Given the description of an element on the screen output the (x, y) to click on. 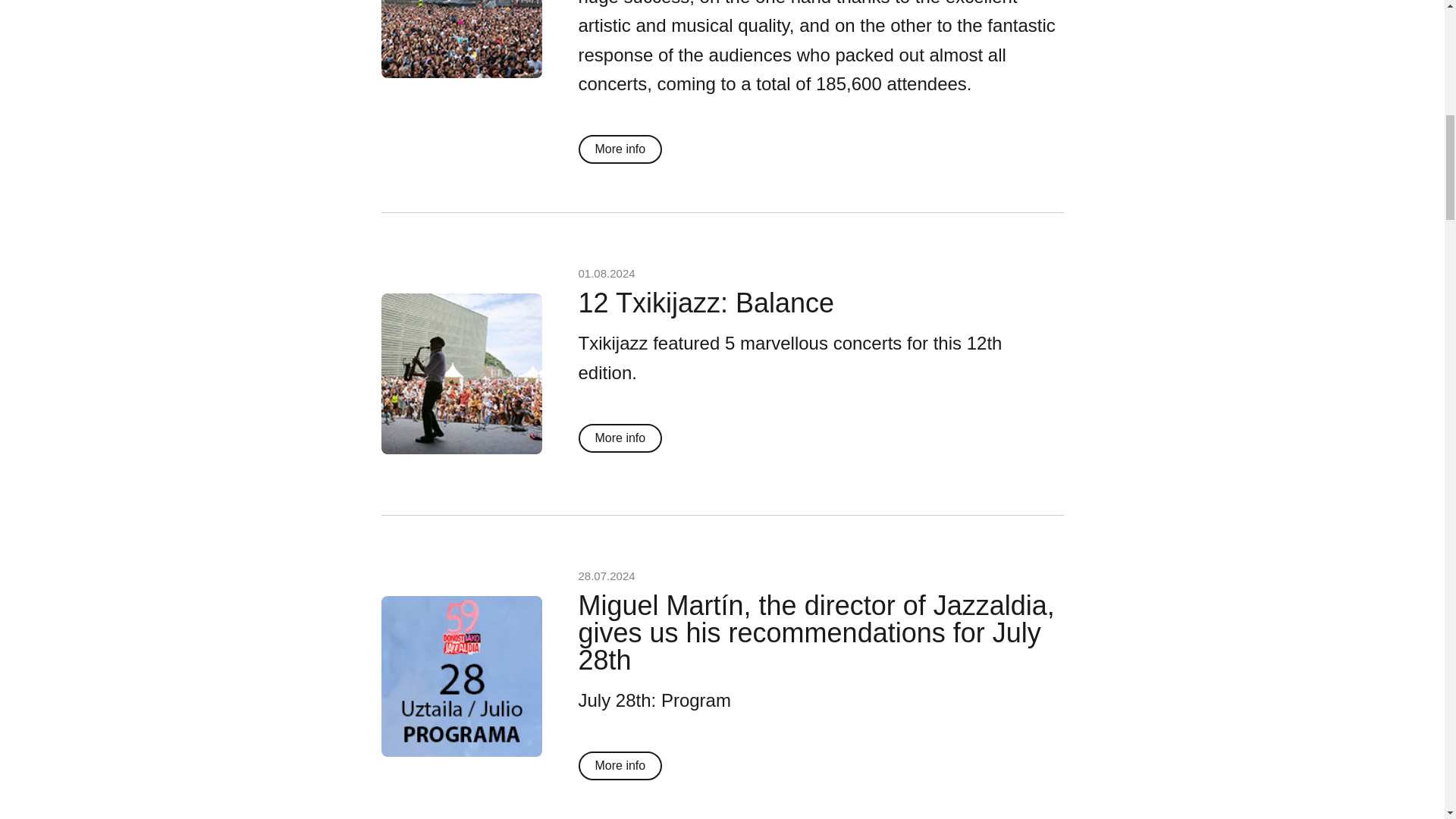
More info (620, 149)
More info (620, 765)
More info (620, 438)
12 Txikijazz: Balance (706, 302)
